Given the description of an element on the screen output the (x, y) to click on. 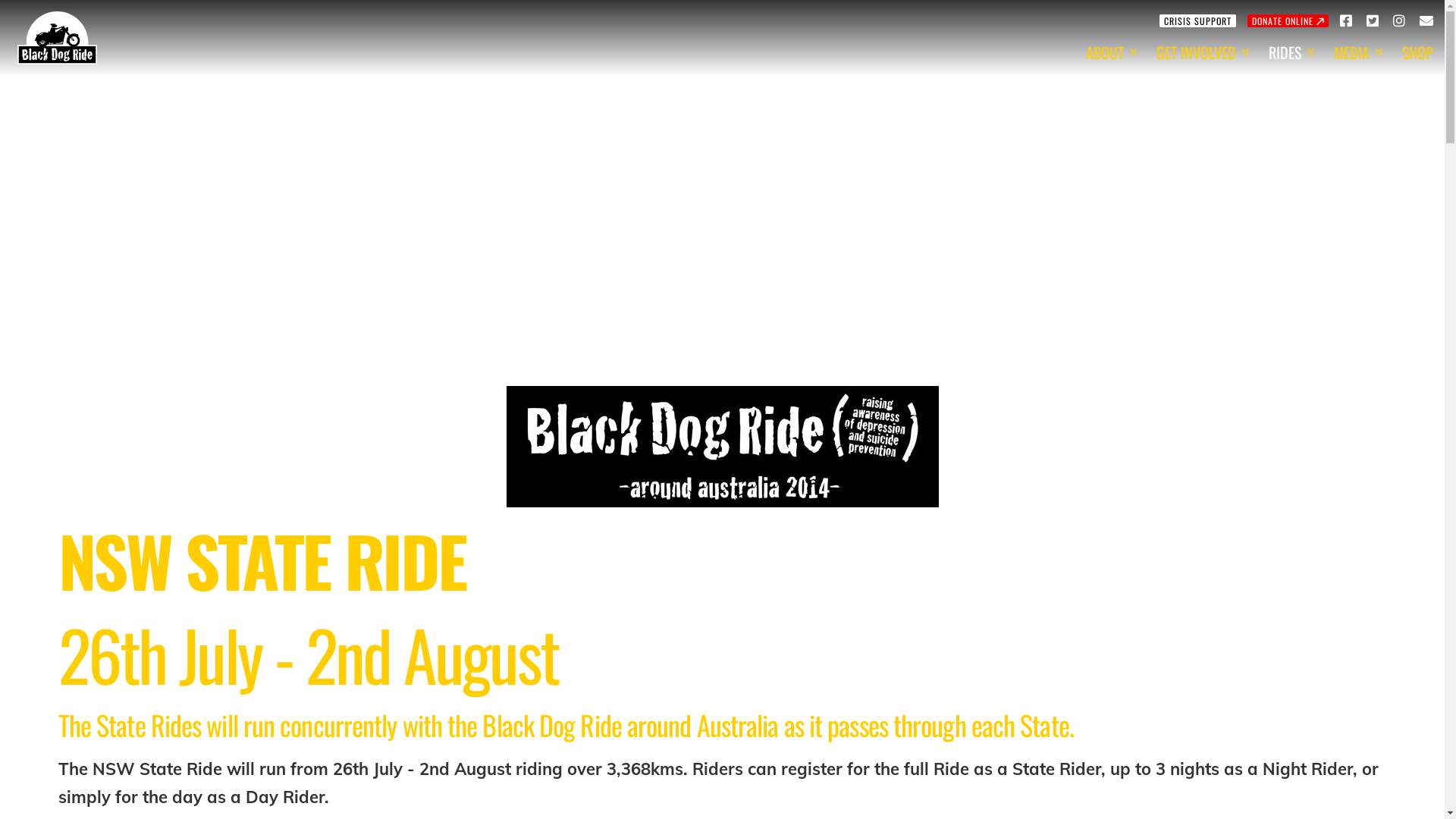
MEDIA Element type: text (1356, 51)
ABOUT Element type: text (1109, 51)
RIDES Element type: text (1289, 51)
DONATE ONLINE Element type: text (1287, 19)
GET INVOLVED Element type: text (1201, 51)
CRISIS SUPPORT Element type: text (1197, 19)
Skip to content Element type: text (21, 16)
Black Dog Ride Around Australia - NSW State Ride Element type: hover (722, 446)
SHOP Element type: text (1417, 51)
